Given the description of an element on the screen output the (x, y) to click on. 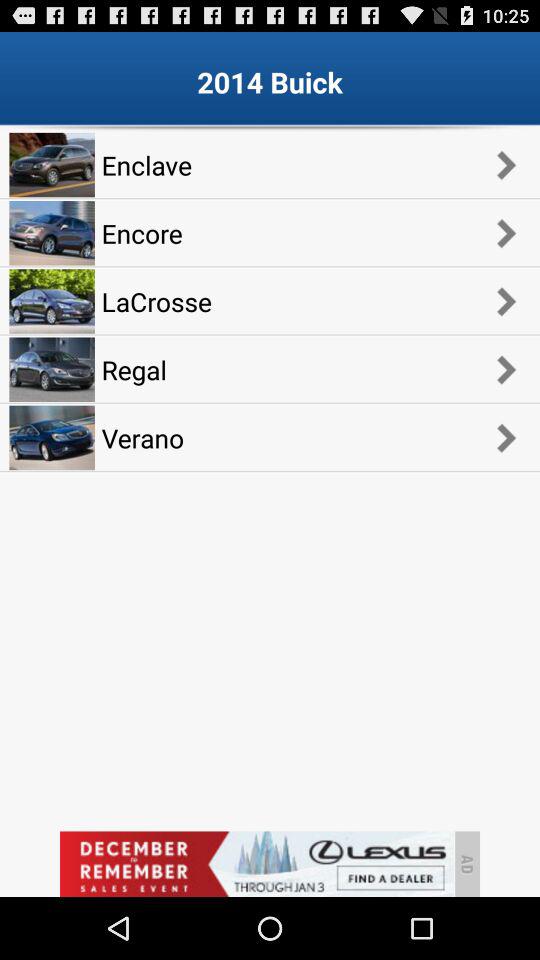
advertisement banner (256, 864)
